Given the description of an element on the screen output the (x, y) to click on. 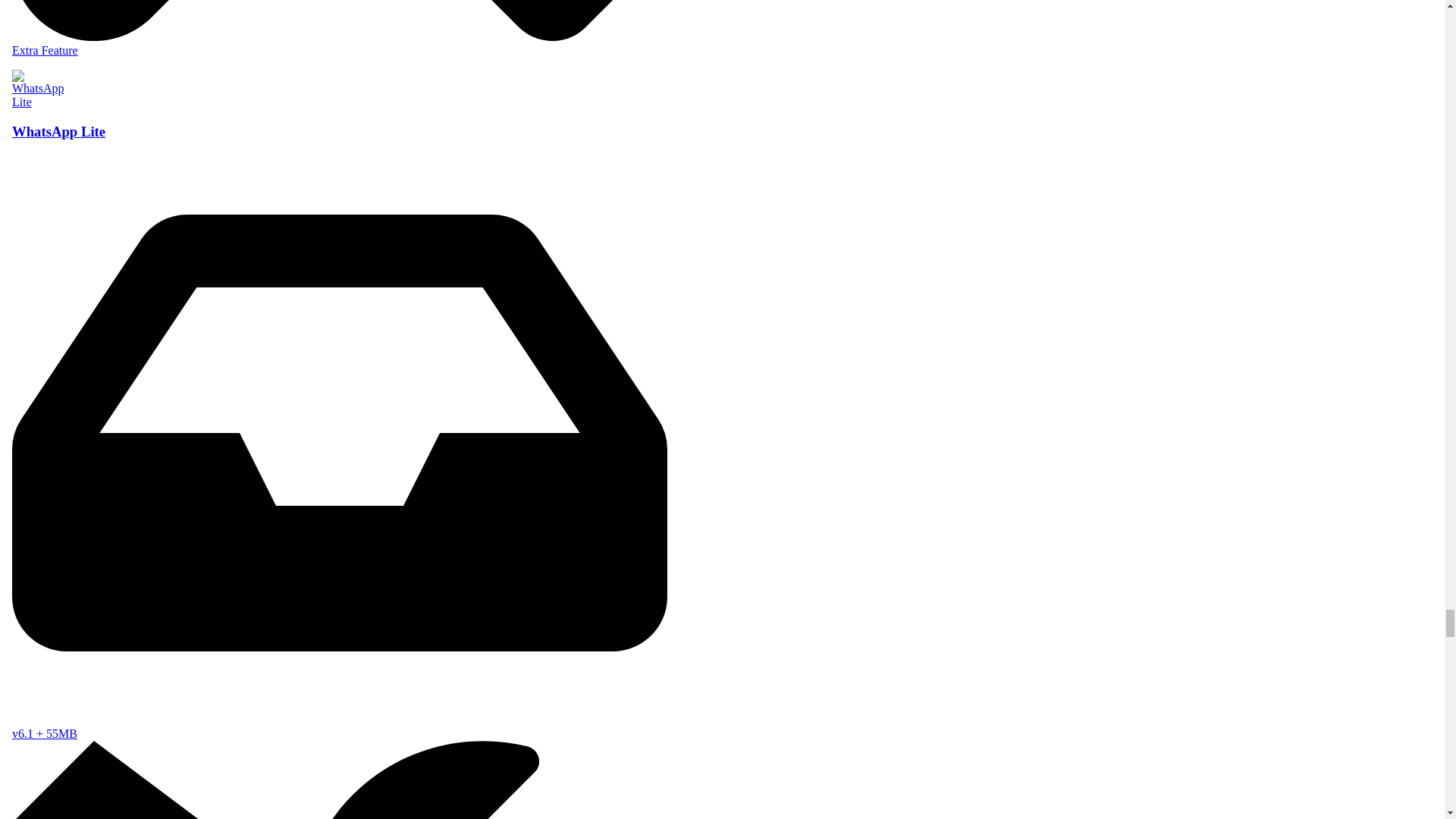
GAWhatsApp (338, 31)
